Given the description of an element on the screen output the (x, y) to click on. 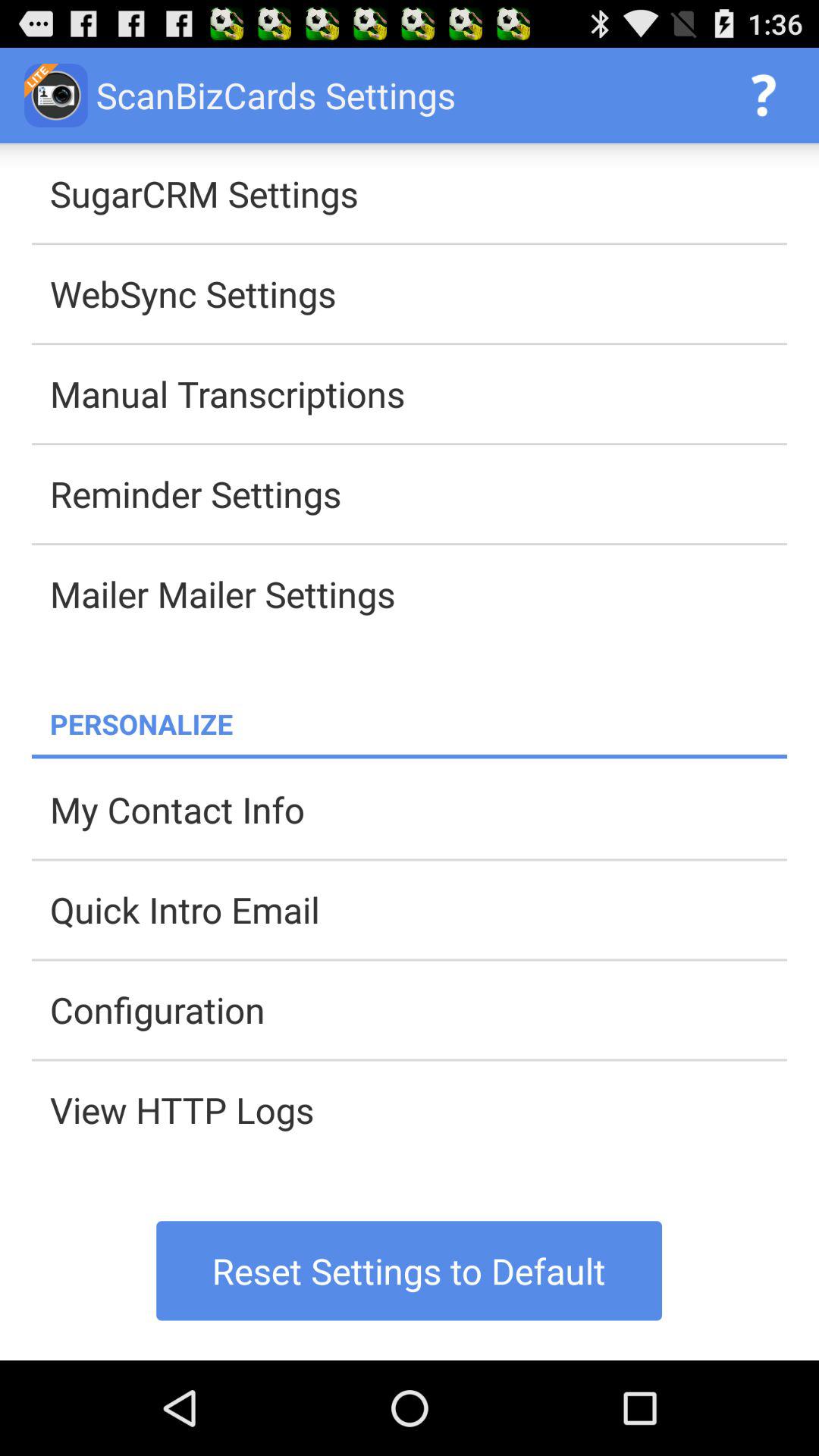
select item below manual transcriptions (418, 493)
